Given the description of an element on the screen output the (x, y) to click on. 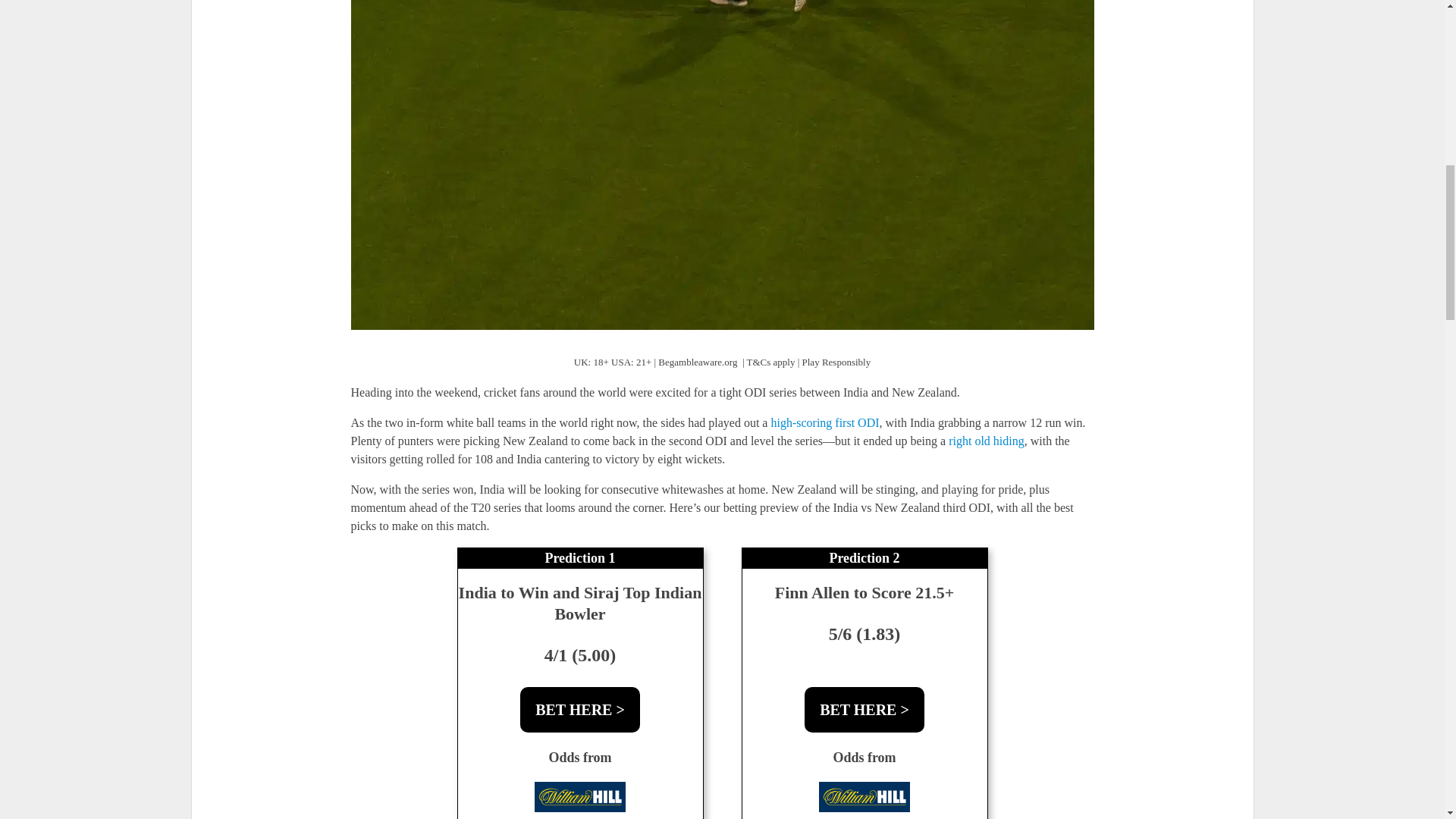
high-scoring first ODI (824, 423)
India vs New Zealand Prediction and Odds: Third ODI 2 (864, 796)
India vs New Zealand Prediction and Odds: Third ODI 2 (580, 796)
